Given the description of an element on the screen output the (x, y) to click on. 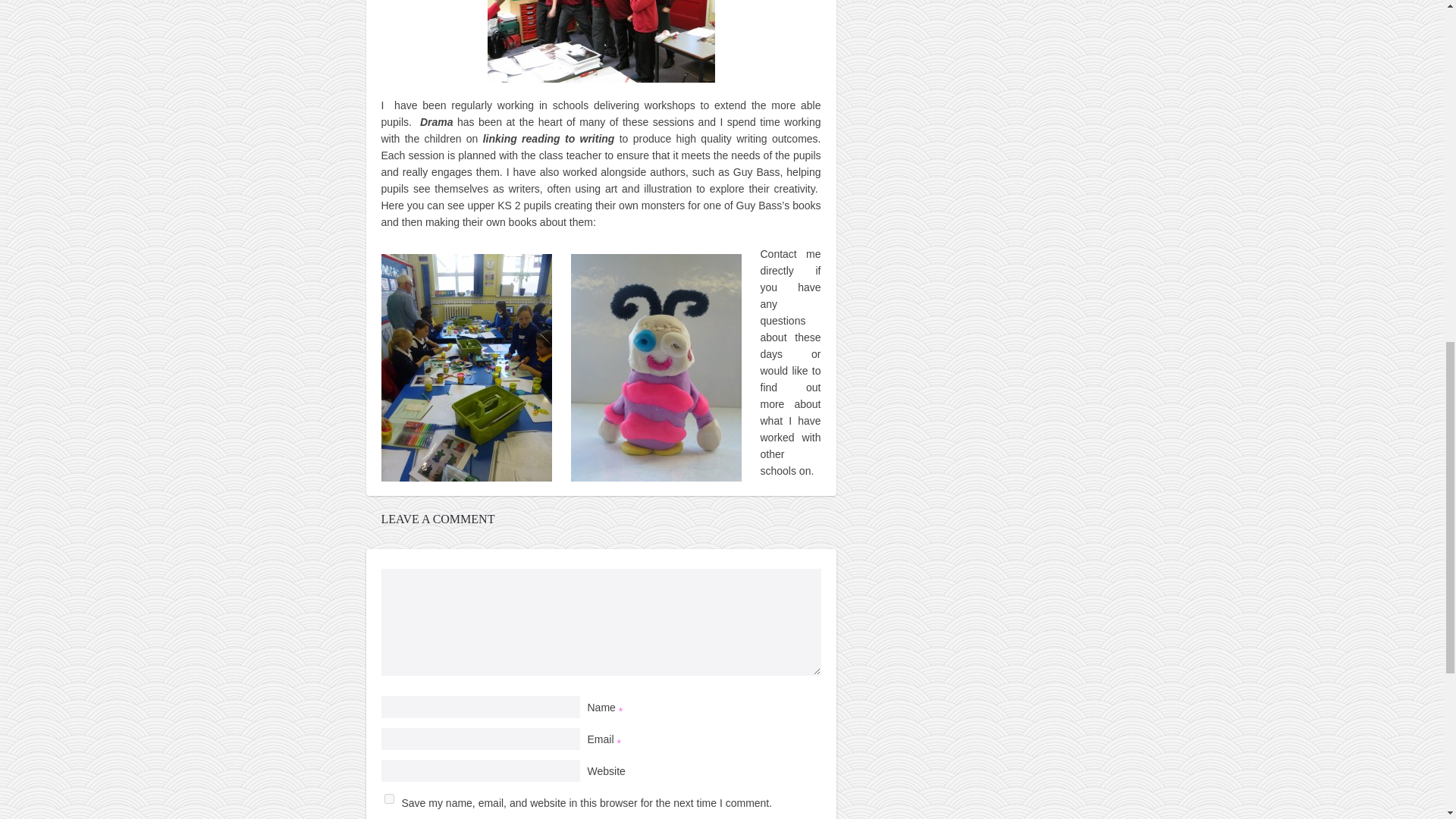
yes (388, 798)
